Given the description of an element on the screen output the (x, y) to click on. 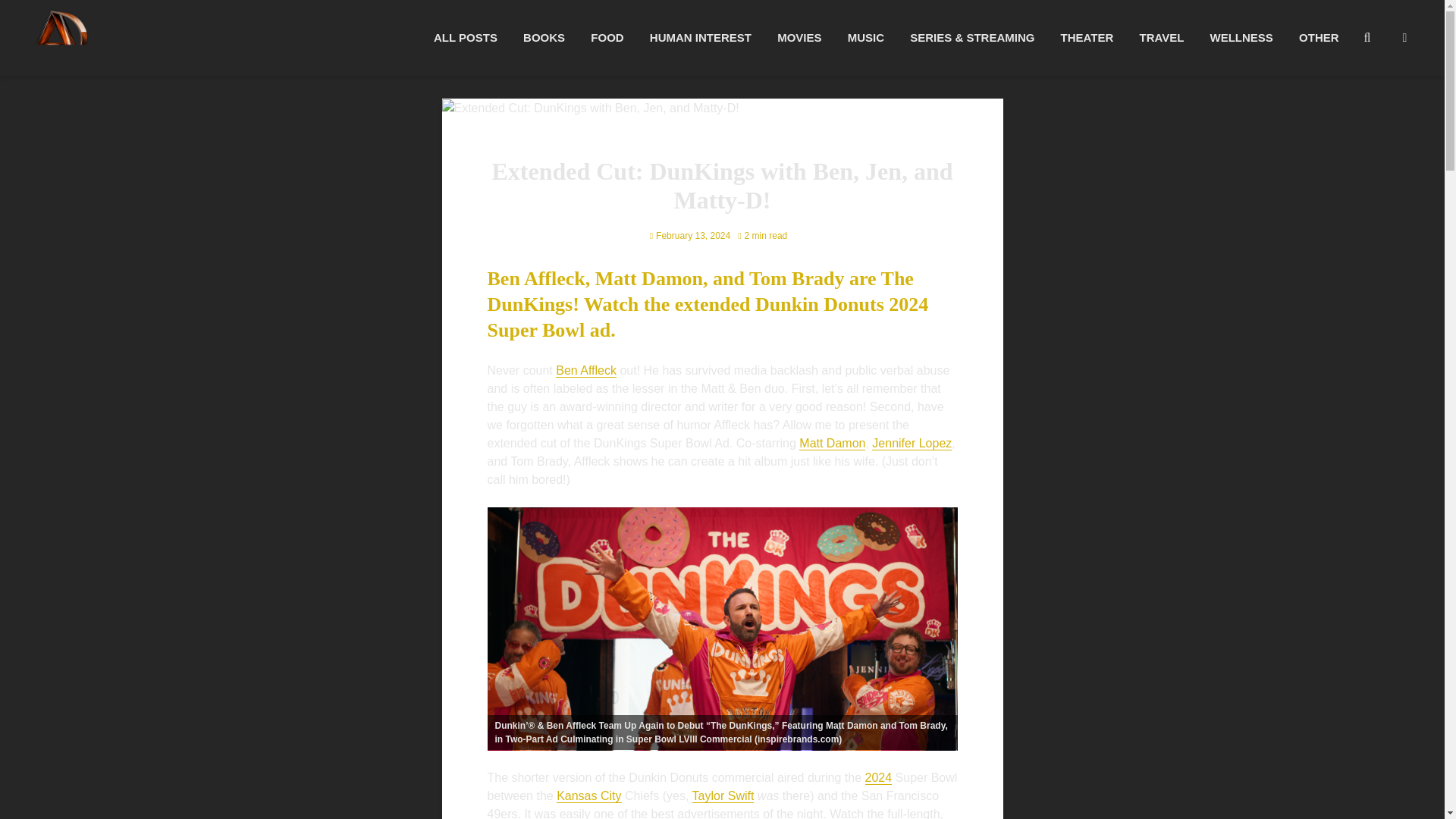
BOOKS (544, 37)
FOOD (606, 37)
MOVIES (798, 37)
TRAVEL (1160, 37)
Extended Cut: DunKings with Ben, Jen, and Matty-D! (589, 108)
THEATER (1087, 37)
OTHER (1319, 37)
ALL POSTS (465, 37)
HUMAN INTEREST (700, 37)
MUSIC (865, 37)
